Given the description of an element on the screen output the (x, y) to click on. 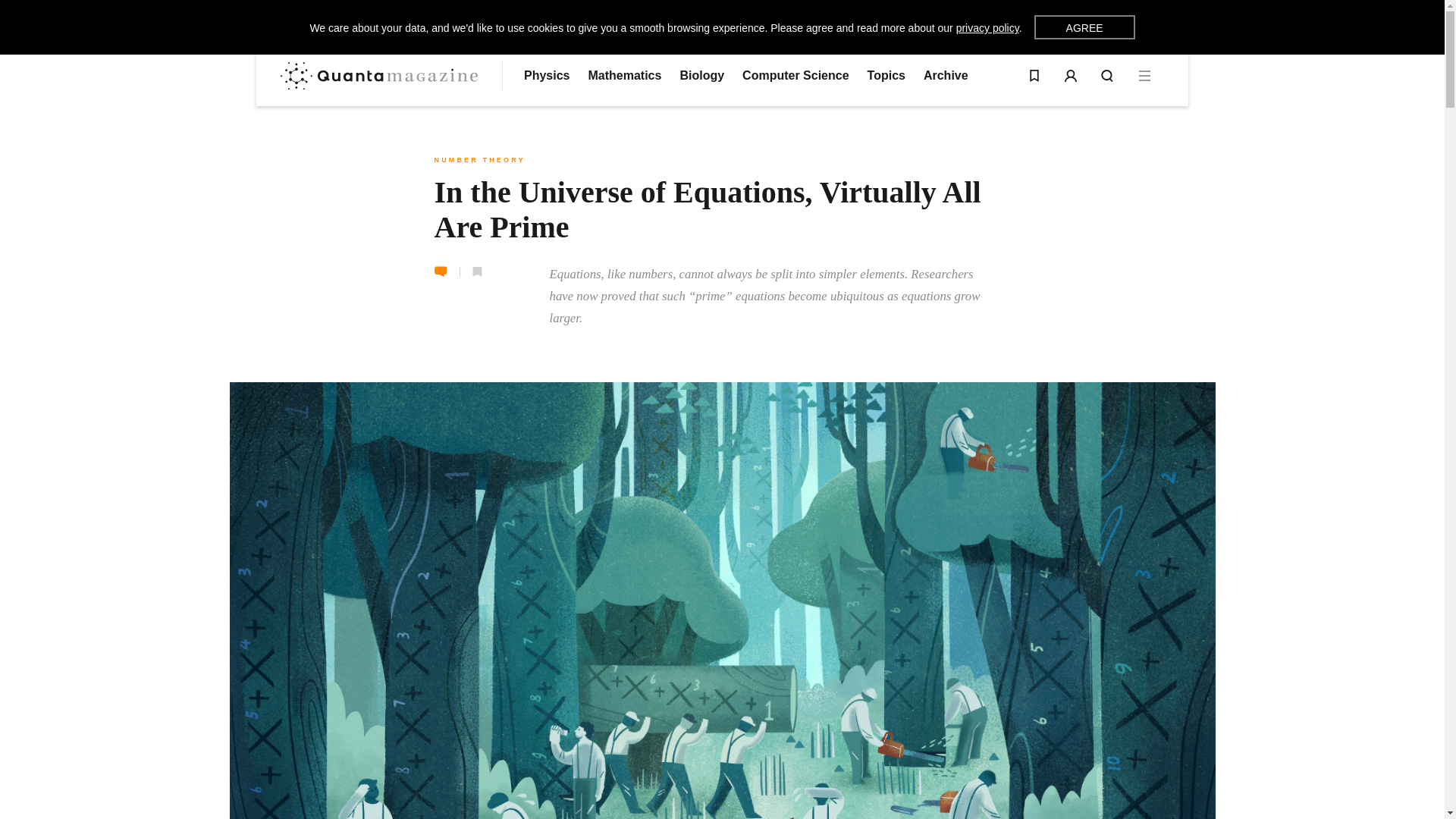
Login (1070, 75)
Computer Science (795, 75)
Topics (886, 75)
Search (1106, 75)
Biology (701, 75)
Archive (945, 75)
Physics (546, 75)
Login (1070, 75)
Saved articles (1034, 75)
Search (1106, 75)
Saved articles (1034, 75)
NUMBER THEORY (478, 159)
Mathematics (624, 75)
privacy policy (987, 28)
AGREE (1084, 27)
